Given the description of an element on the screen output the (x, y) to click on. 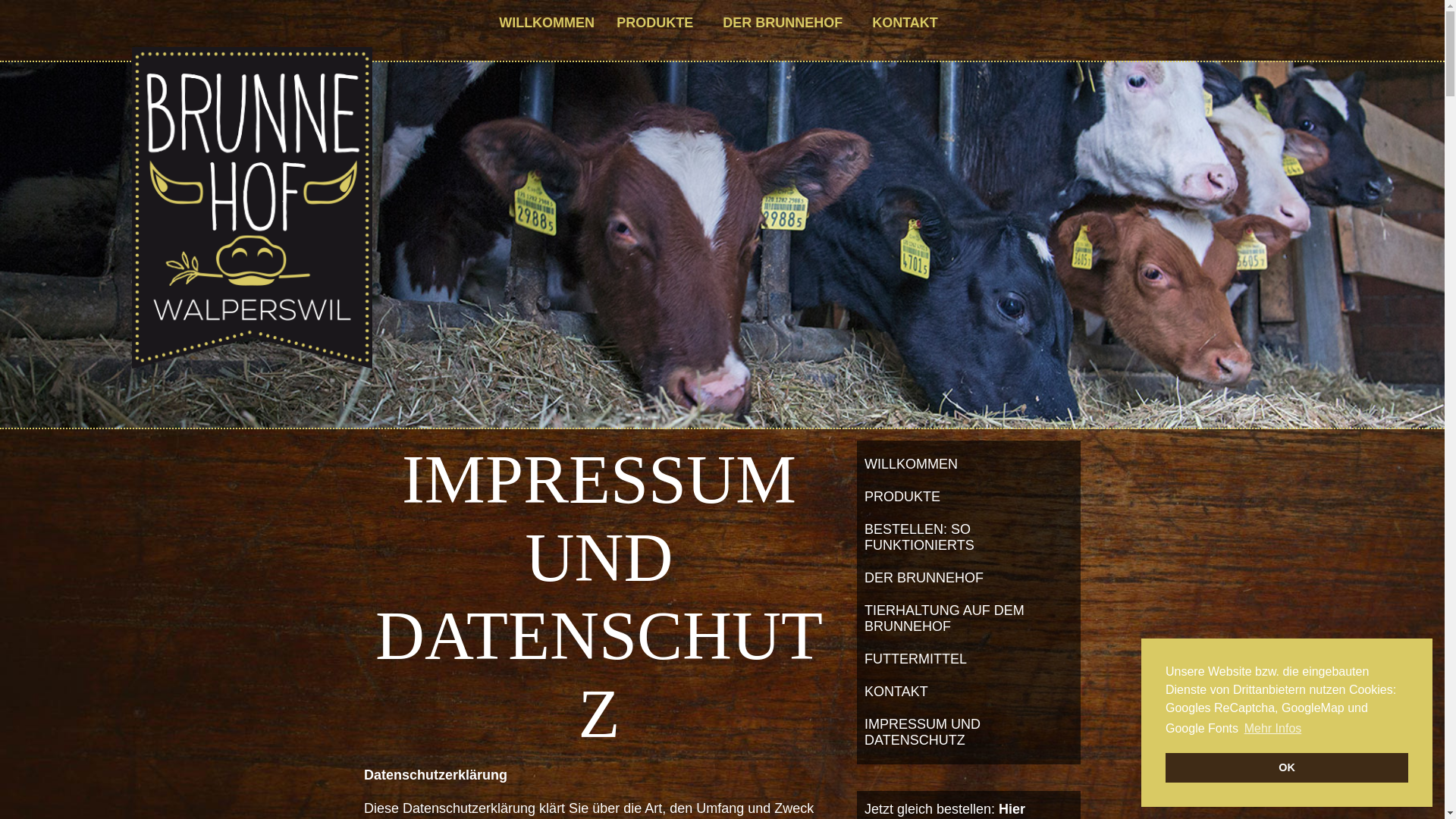
OK Element type: text (1286, 767)
Mehr Infos Element type: text (1273, 728)
KONTAKT Element type: text (968, 691)
WILLKOMMEN Element type: text (968, 464)
TIERHALTUNG AUF DEM BRUNNEHOF Element type: text (968, 618)
WILLKOMMEN Element type: text (546, 23)
KONTAKT Element type: text (908, 23)
DER BRUNNEHOF Element type: text (786, 23)
BESTELLEN: SO FUNKTIONIERTS Element type: text (968, 537)
IMPRESSUM UND DATENSCHUTZ Element type: text (968, 732)
DER BRUNNEHOF Element type: text (968, 577)
PRODUKTE Element type: text (658, 23)
PRODUKTE Element type: text (968, 496)
FUTTERMITTEL Element type: text (968, 659)
